Given the description of an element on the screen output the (x, y) to click on. 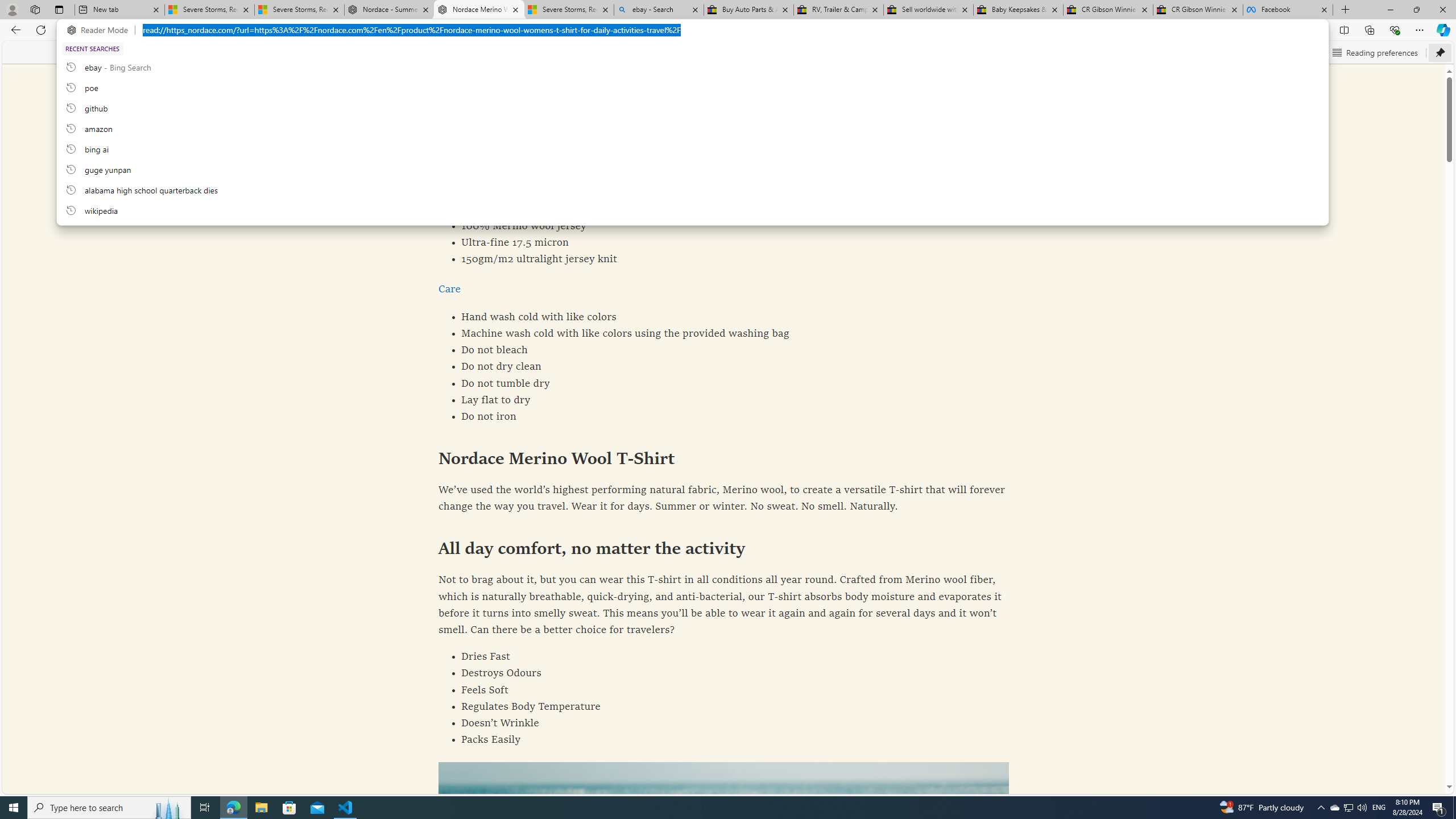
bing ai, recent searches from history (691, 148)
Text preferences (1283, 52)
Read aloud (1209, 52)
Sell worldwide with eBay (928, 9)
Baby Keepsakes & Announcements for sale | eBay (1018, 9)
Reading preferences (1374, 52)
Do not bleach (724, 350)
Facebook (1287, 9)
